Given the description of an element on the screen output the (x, y) to click on. 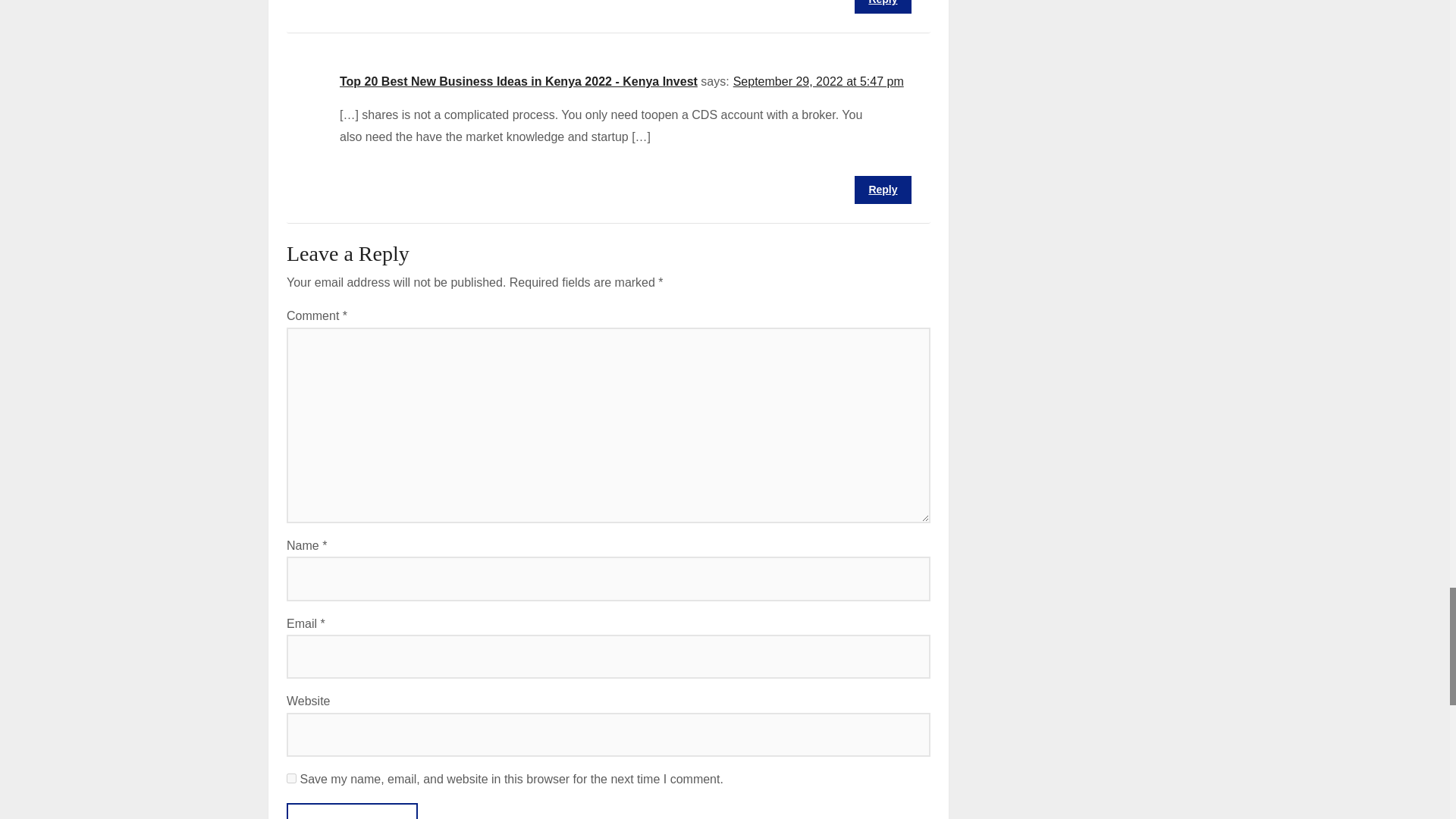
yes (291, 777)
Post Comment (351, 811)
